Given the description of an element on the screen output the (x, y) to click on. 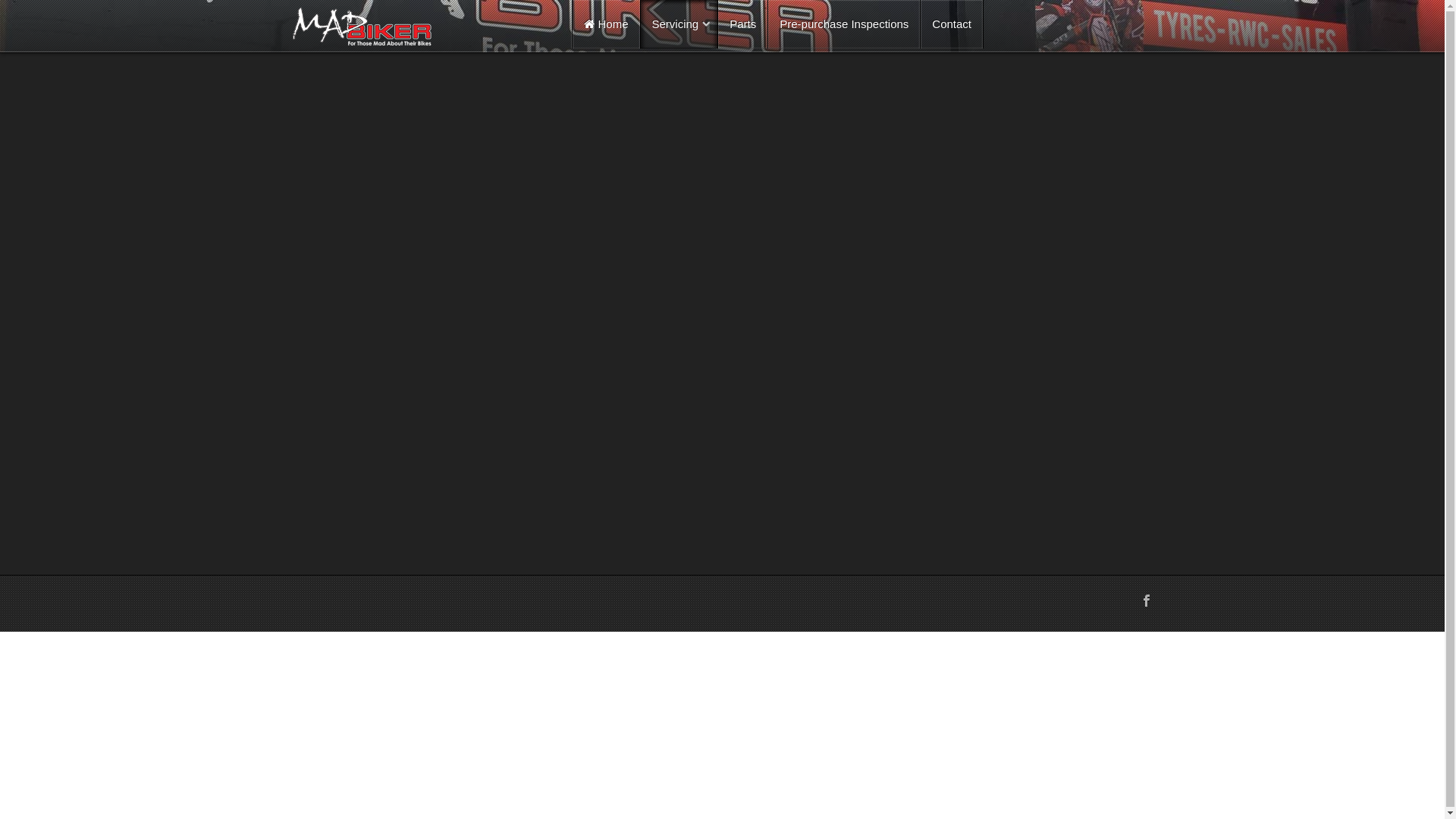
Parts Element type: text (742, 24)
Pre-purchase Inspections Element type: text (843, 24)
Contact Element type: text (951, 24)
Home Element type: text (605, 24)
Servicing Element type: text (679, 24)
